Given the description of an element on the screen output the (x, y) to click on. 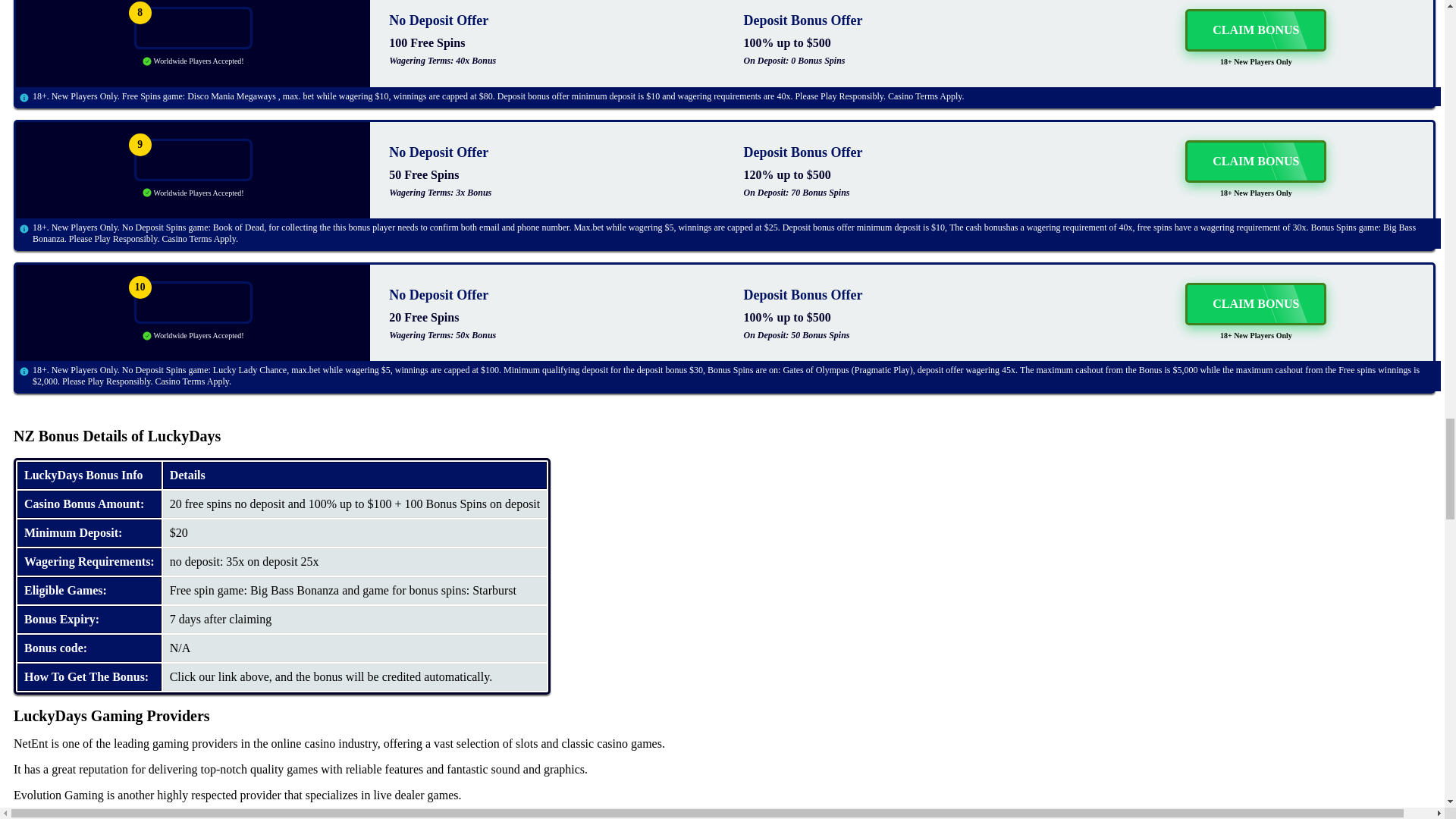
Bonus amount offered (89, 503)
CLAIM BONUS (1255, 30)
Eligible bonus games (89, 590)
The minimum amount required to receive the bonus (89, 533)
Information about LuckyDays  (89, 474)
CLAIM BONUS (1255, 161)
The wagering requirements (89, 561)
Expiration date of bonus (89, 619)
Bonus code to receive the bonus (89, 647)
